Given the description of an element on the screen output the (x, y) to click on. 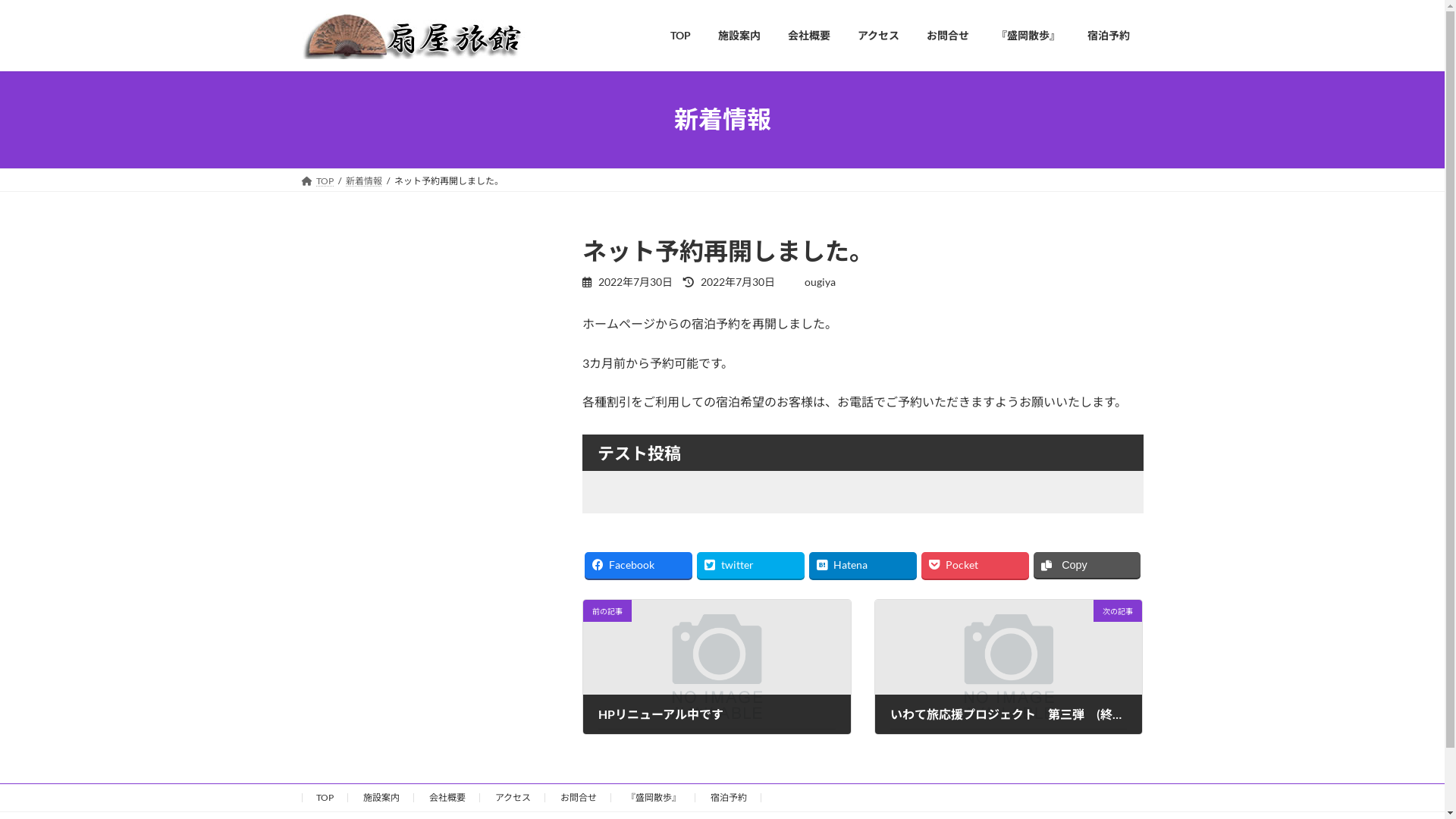
twitter Element type: text (750, 564)
Hatena Element type: text (862, 564)
TOP Element type: text (317, 180)
TOP Element type: text (680, 35)
TOP Element type: text (323, 797)
Facebook Element type: text (638, 564)
Copy Element type: text (1087, 564)
Pocket Element type: text (975, 564)
